Given the description of an element on the screen output the (x, y) to click on. 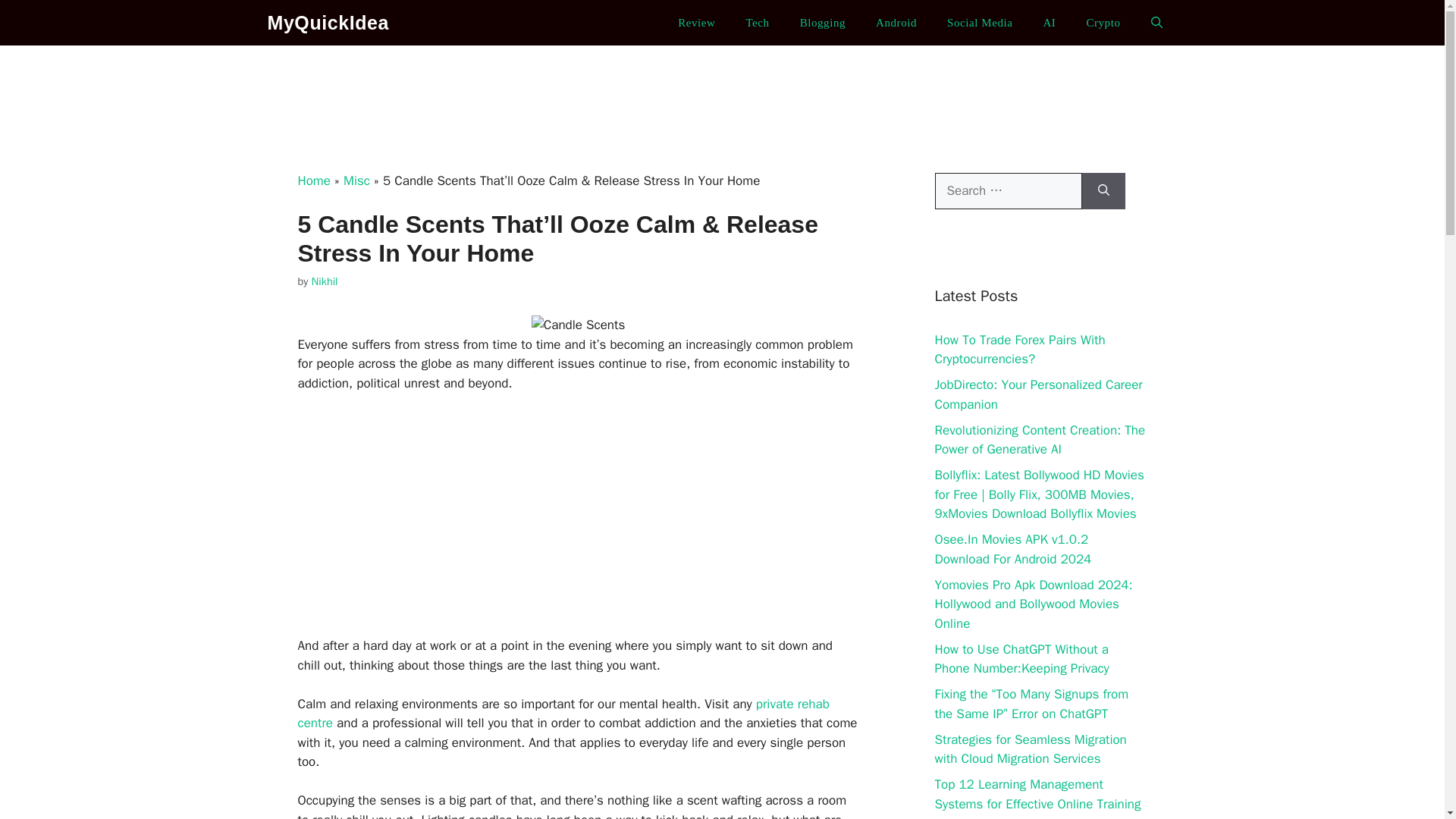
MyQuickIdea (327, 22)
Social Media (979, 22)
Review (696, 22)
Home (313, 180)
private rehab centre (562, 714)
AI (1048, 22)
Crypto (1102, 22)
Android (895, 22)
Nikhil (324, 281)
Tech (757, 22)
